Given the description of an element on the screen output the (x, y) to click on. 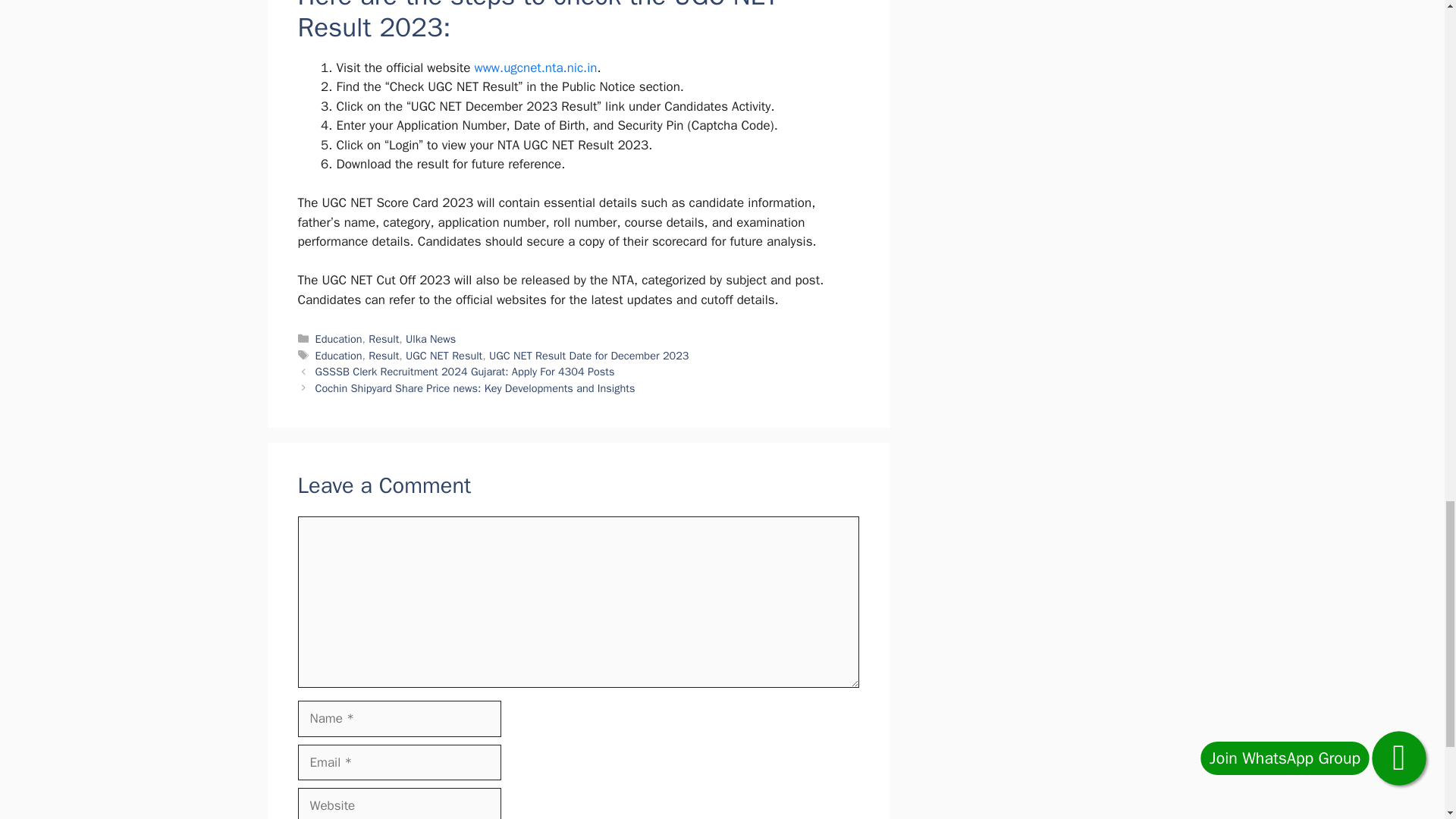
GSSSB Clerk Recruitment 2024 Gujarat: Apply For 4304 Posts (464, 371)
UGC NET Result Date for December 2023 (588, 355)
www.ugcnet.nta.nic.in (535, 67)
Result (383, 338)
Education (338, 355)
Result (383, 355)
UGC NET Result (443, 355)
Ulka News (430, 338)
Education (338, 338)
